Given the description of an element on the screen output the (x, y) to click on. 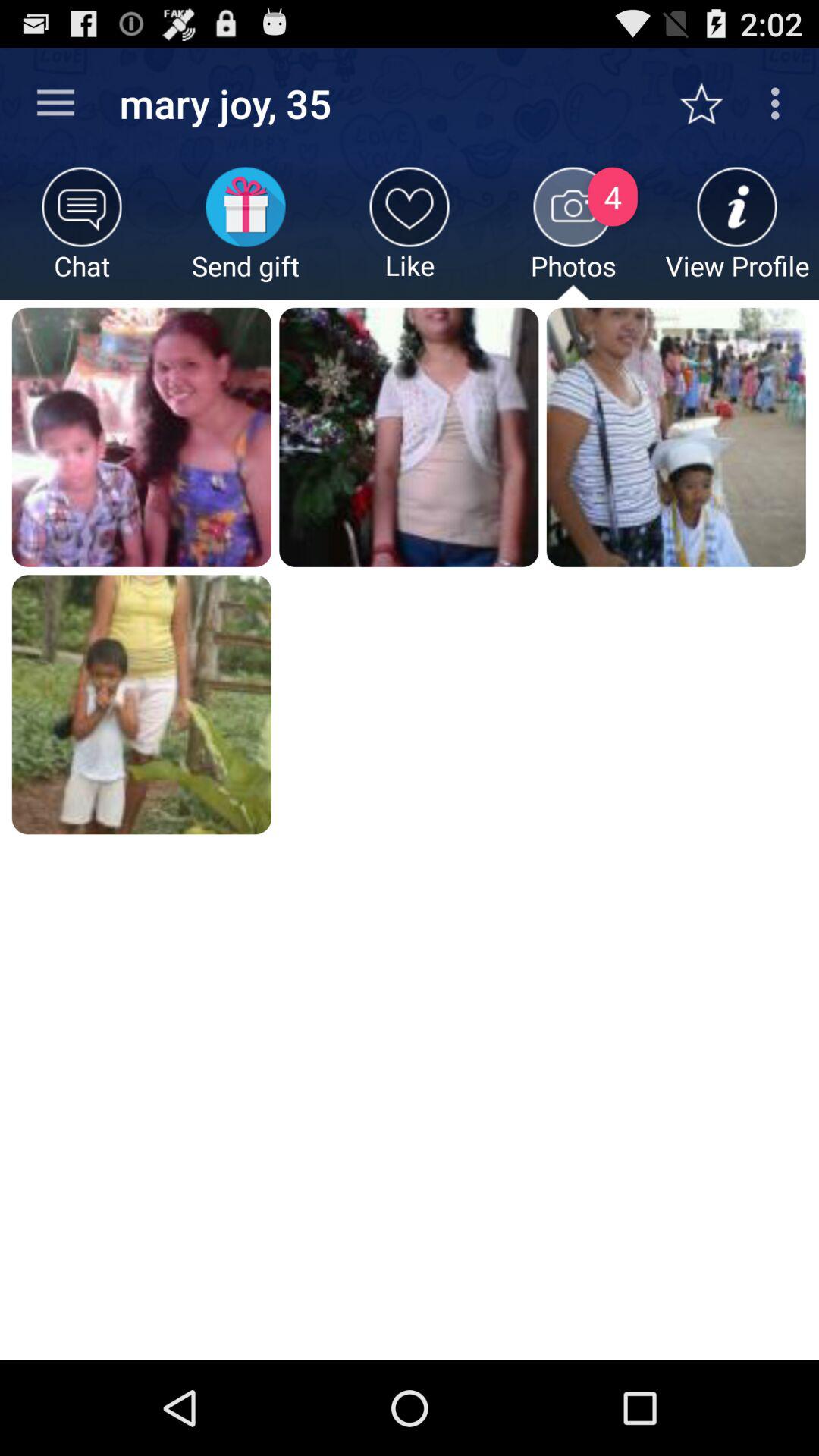
tap the icon next to like item (573, 233)
